Given the description of an element on the screen output the (x, y) to click on. 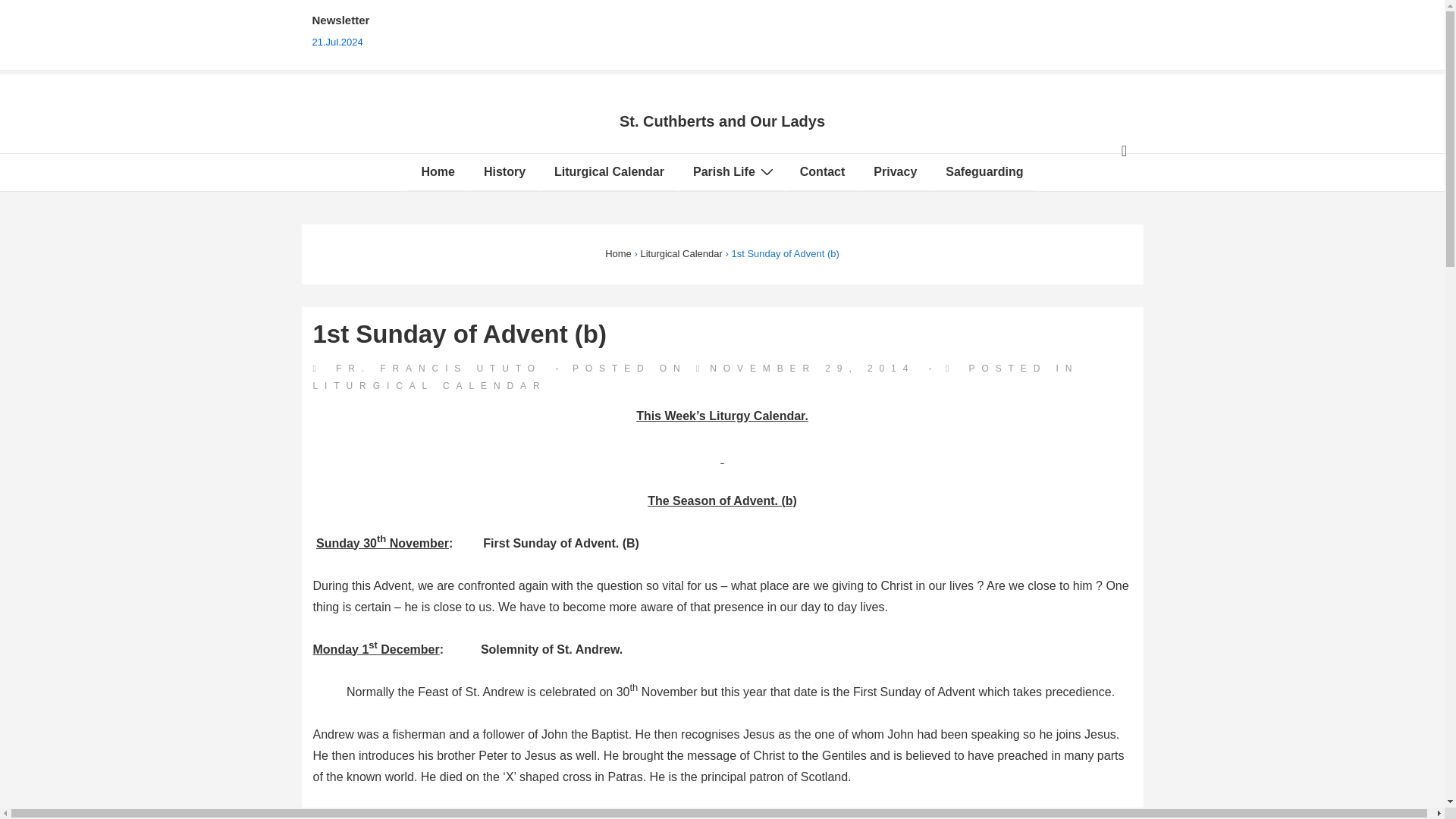
Privacy (895, 171)
Home (618, 253)
Liturgical Calendar (609, 171)
Contact (822, 171)
MENU (1123, 150)
Contact (822, 171)
St. Cuthberts and Our Ladys (722, 121)
History (504, 171)
Safeguarding (983, 171)
Home (437, 171)
View all posts by Fr. Francis Ututo (431, 368)
Liturgical Calendar (681, 253)
Parish Life (731, 171)
